Given the description of an element on the screen output the (x, y) to click on. 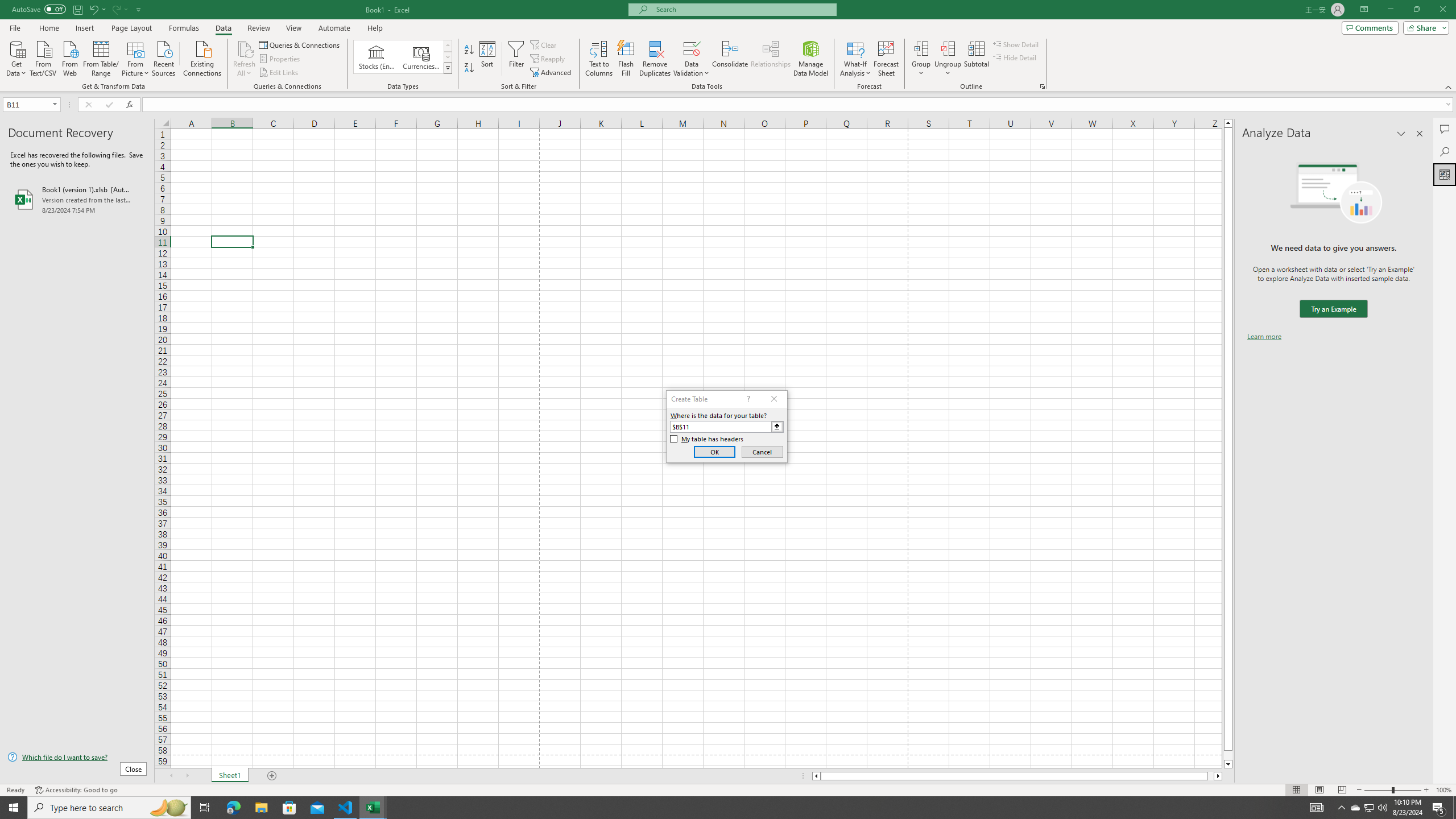
System (6, 6)
Refresh All (244, 48)
Save (77, 9)
Consolidate... (729, 58)
AutoSave (38, 9)
Page Break Preview (1342, 790)
From Picture (135, 57)
File Tab (15, 27)
Ribbon Display Options (1364, 9)
Name Box (30, 104)
Sort... (487, 58)
Page Layout (131, 28)
Help (374, 28)
Normal (1296, 790)
